Given the description of an element on the screen output the (x, y) to click on. 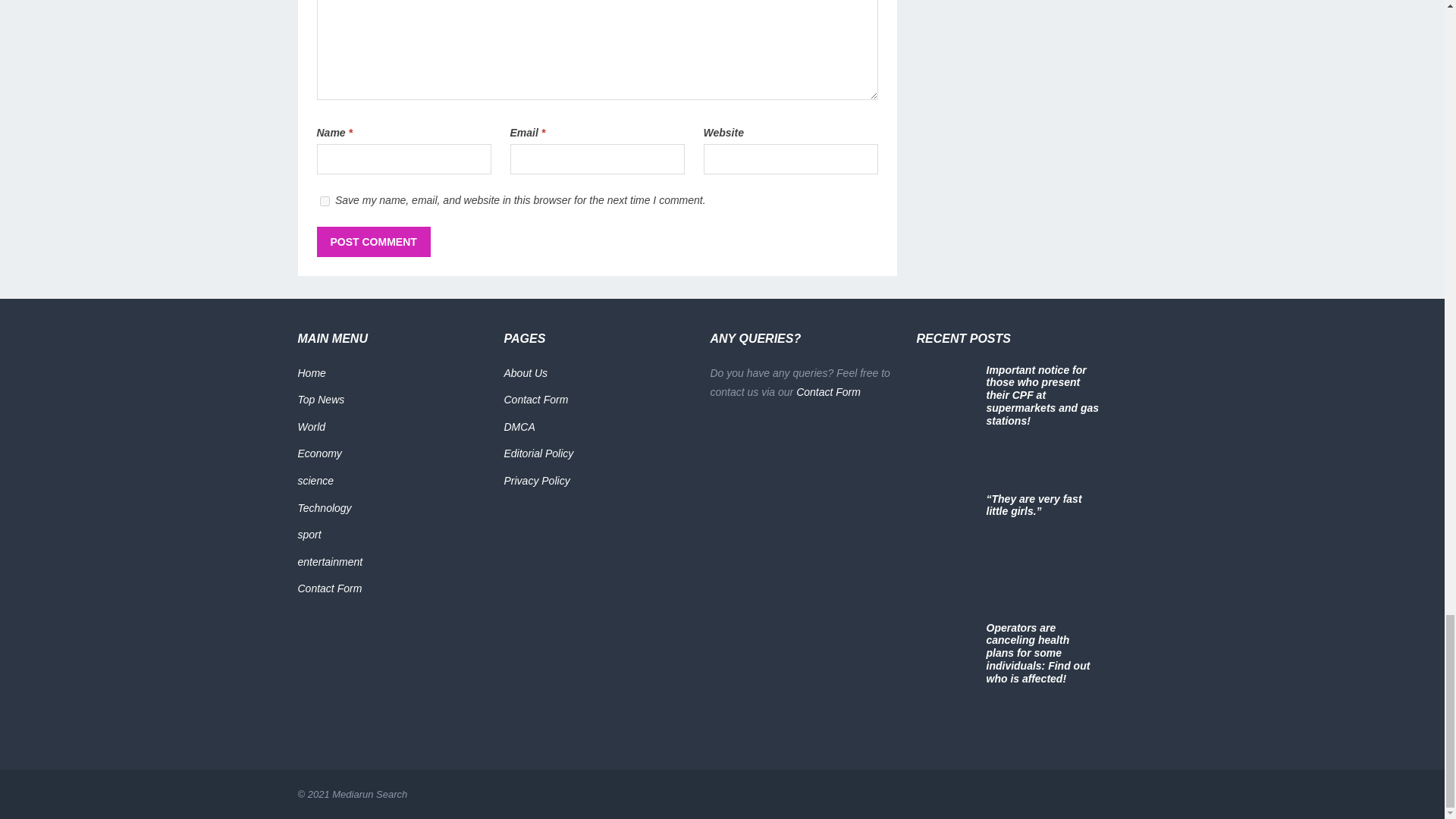
Post Comment (373, 241)
yes (325, 201)
